Given the description of an element on the screen output the (x, y) to click on. 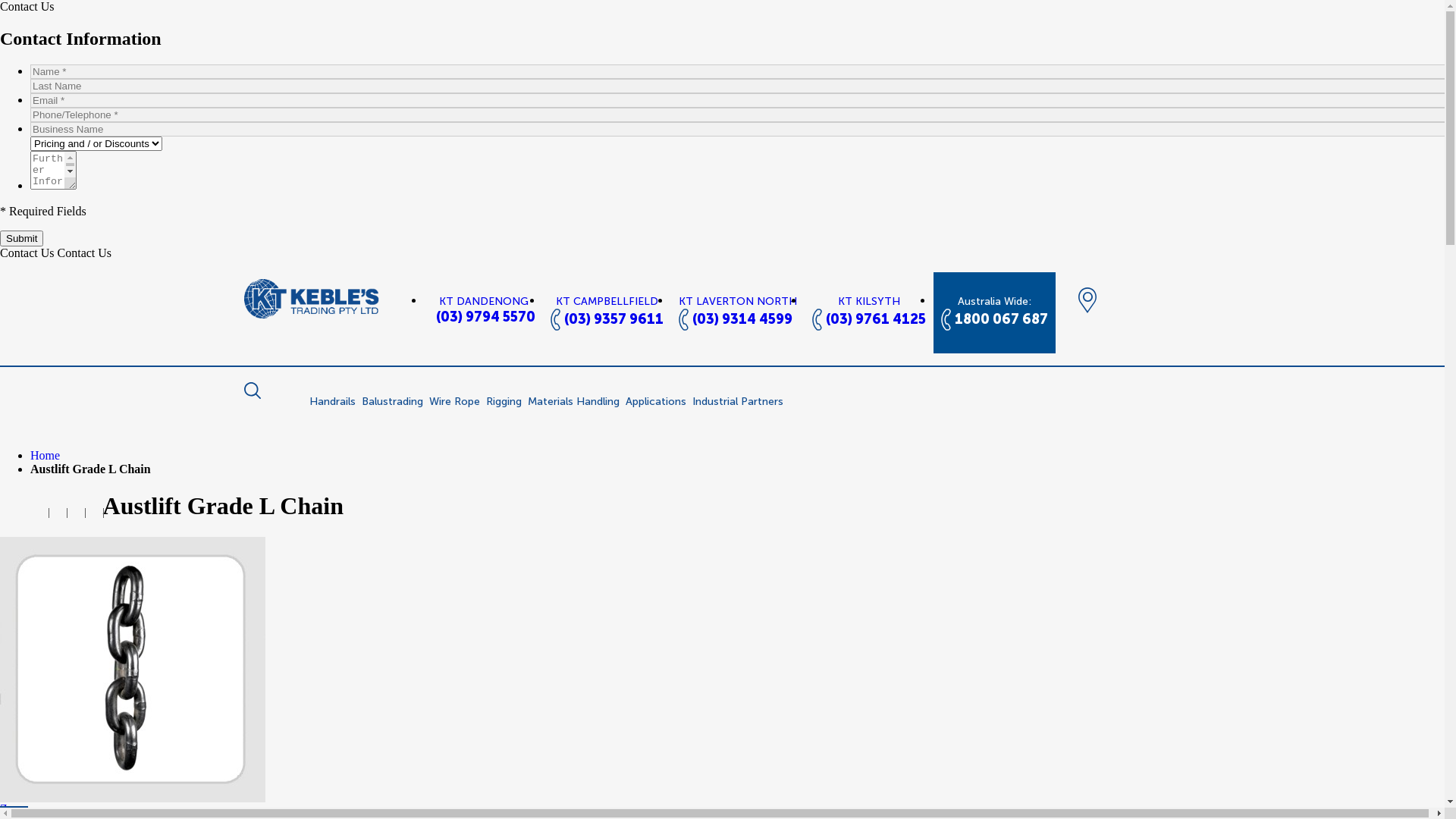
  Element type: text (57, 511)
Phone / Telephone Element type: hover (739, 114)
Name Element type: hover (739, 71)
Handrails Element type: text (332, 401)
Email Element type: hover (739, 100)
Industrial Partners Element type: text (736, 401)
Home Element type: text (44, 454)
Submit Element type: text (21, 238)
Further Information/Details Element type: hover (53, 169)
Balustrading Element type: text (391, 401)
KT KILSYTH
(03) 9761 4125 Element type: text (867, 312)
Business Name Element type: hover (739, 129)
Zoom Element type: text (14, 808)
  Element type: text (93, 511)
KT LAVERTON NORTH
(03) 9314 4599 Element type: text (736, 312)
  Element type: text (75, 511)
Materials Handling Element type: text (573, 401)
KT CAMPBELLFIELD
(03) 9357 9611 Element type: text (606, 312)
  Element type: text (39, 511)
Wire Rope Element type: text (454, 401)
Rigging Element type: text (502, 401)
Applications Element type: text (654, 401)
KT DANDENONG
(03) 9794 5570 Element type: text (483, 310)
Last Name Element type: hover (739, 85)
Australia Wide:
1800 067 687 Element type: text (993, 312)
Austlift Grade L Chain Element type: hover (132, 669)
